Given the description of an element on the screen output the (x, y) to click on. 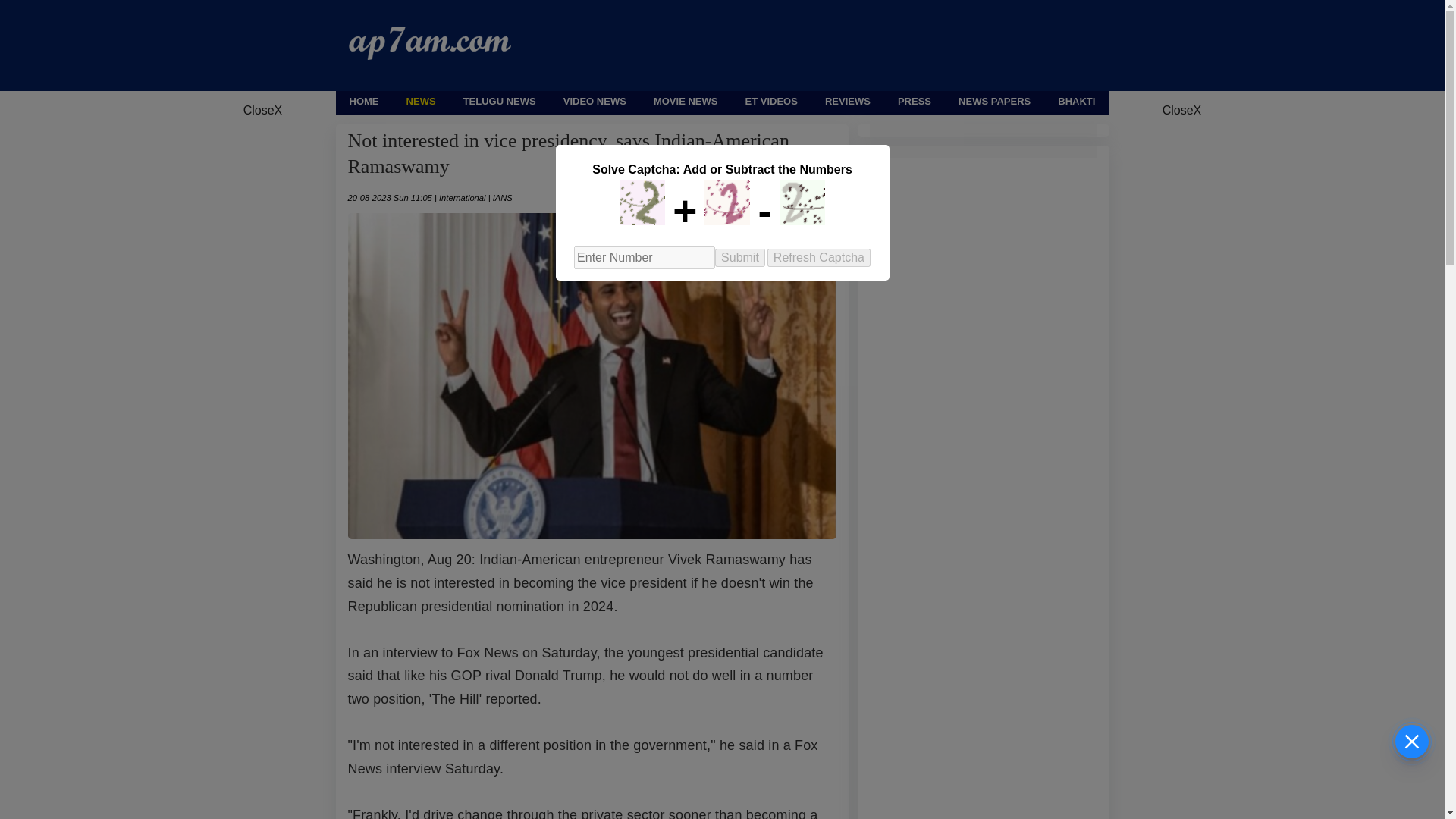
Browse ET Videos (770, 101)
REVIEWS (847, 101)
Browse Telugu News (499, 101)
PRESS (914, 101)
CloseX (1181, 110)
Go to ap7am.com home page (363, 101)
MOVIE NEWS (685, 101)
HOME (363, 101)
ET VIDEOS (770, 101)
Refresh Captcha (818, 257)
NEWS PAPERS (994, 101)
NEWS (420, 101)
ap7am.com (430, 55)
CloseX (262, 110)
Browse Press Releases (914, 101)
